Given the description of an element on the screen output the (x, y) to click on. 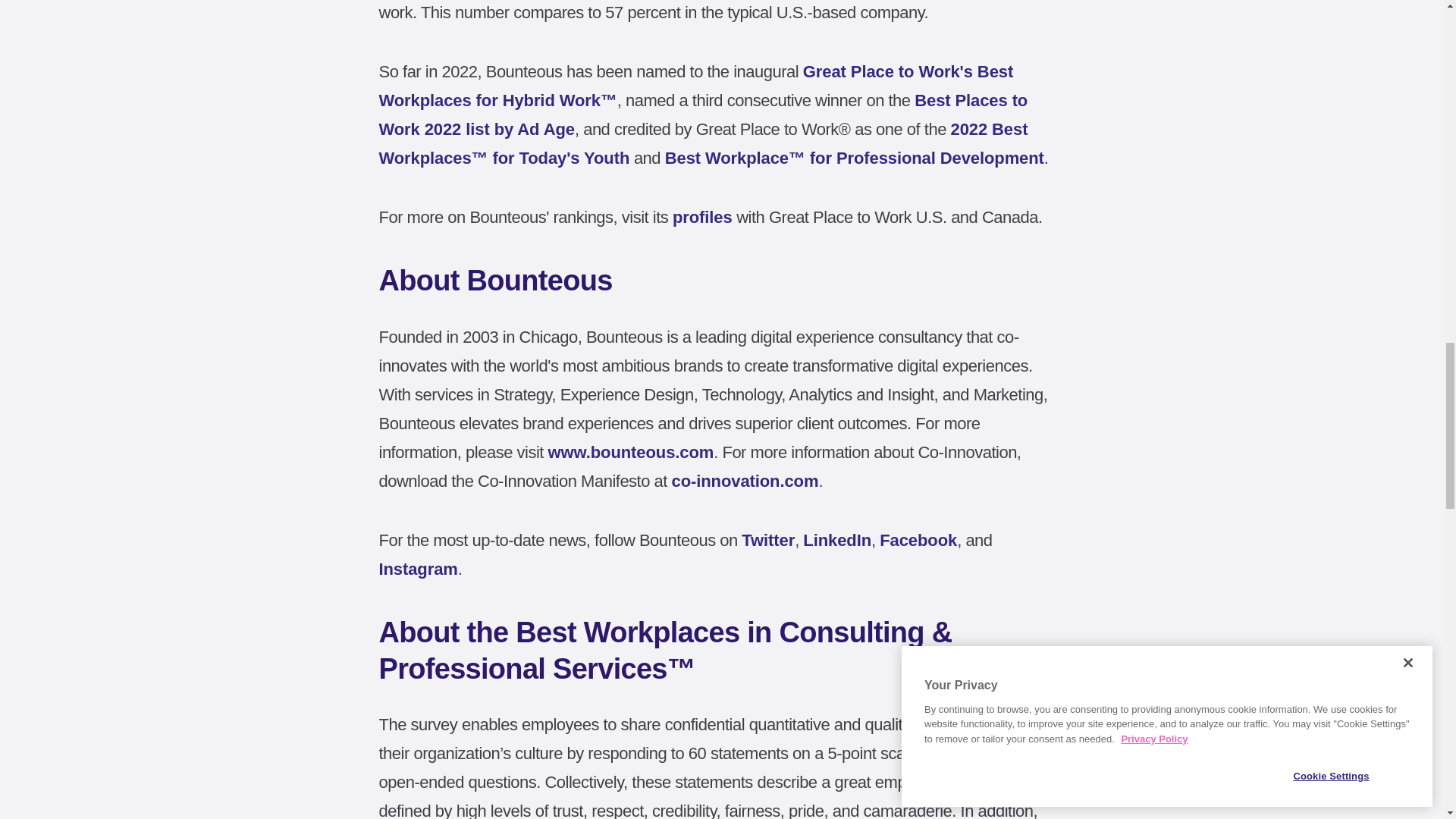
www.bounteous.com (630, 452)
profiles (702, 217)
Best Places to Work 2022 list by Ad Age (702, 114)
co-innovation.com (745, 480)
Facebook (917, 539)
Twitter (767, 539)
Instagram (418, 568)
LinkedIn (837, 539)
